Given the description of an element on the screen output the (x, y) to click on. 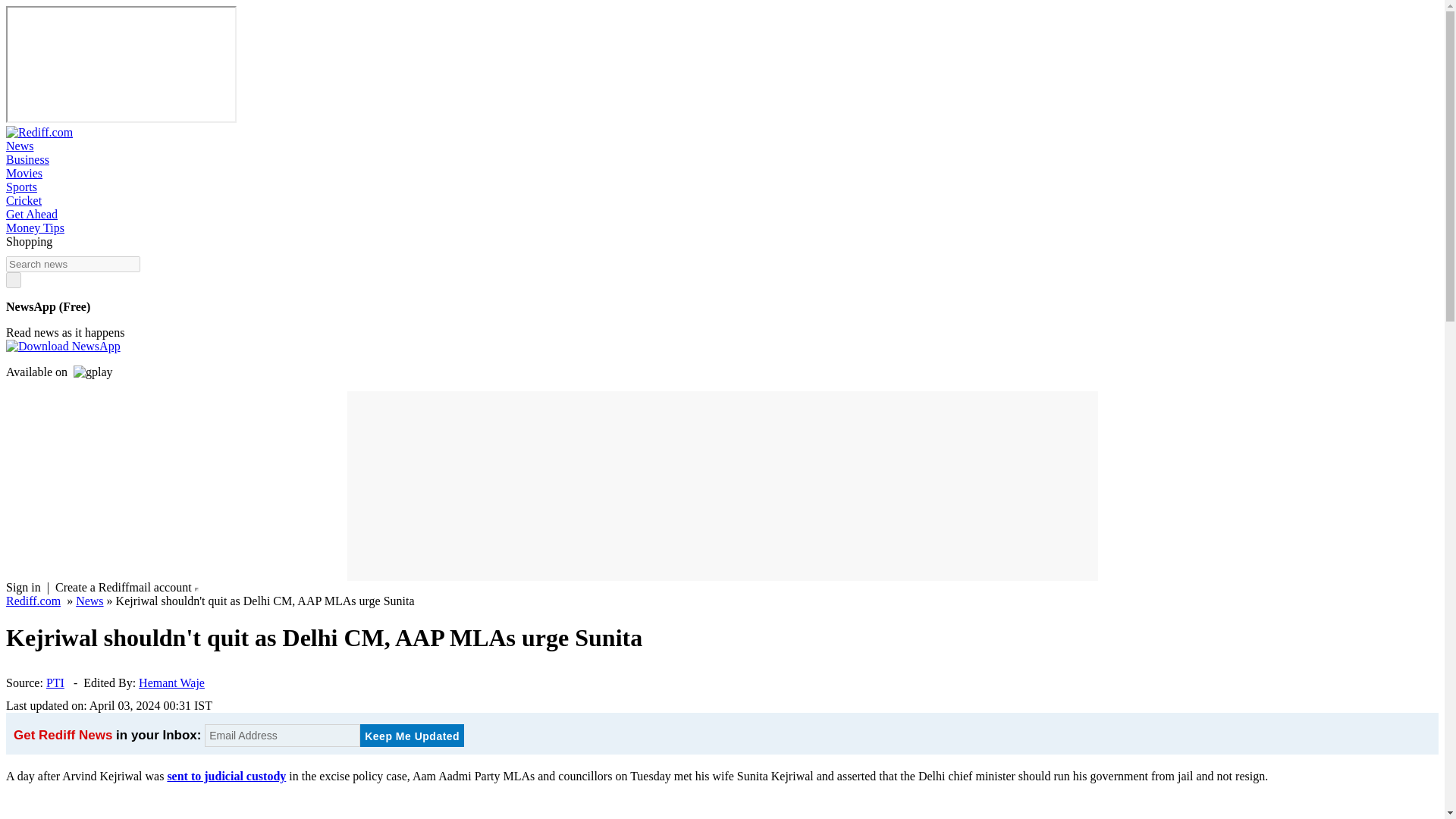
PTI (55, 682)
Hemant Waje (171, 682)
Keep Me Updated (411, 734)
sent to judicial custody (226, 775)
Email Address (282, 734)
News (89, 600)
Rediff.com Home (38, 132)
Share by Email (231, 705)
Rediff.com (33, 600)
Search (13, 279)
